Given the description of an element on the screen output the (x, y) to click on. 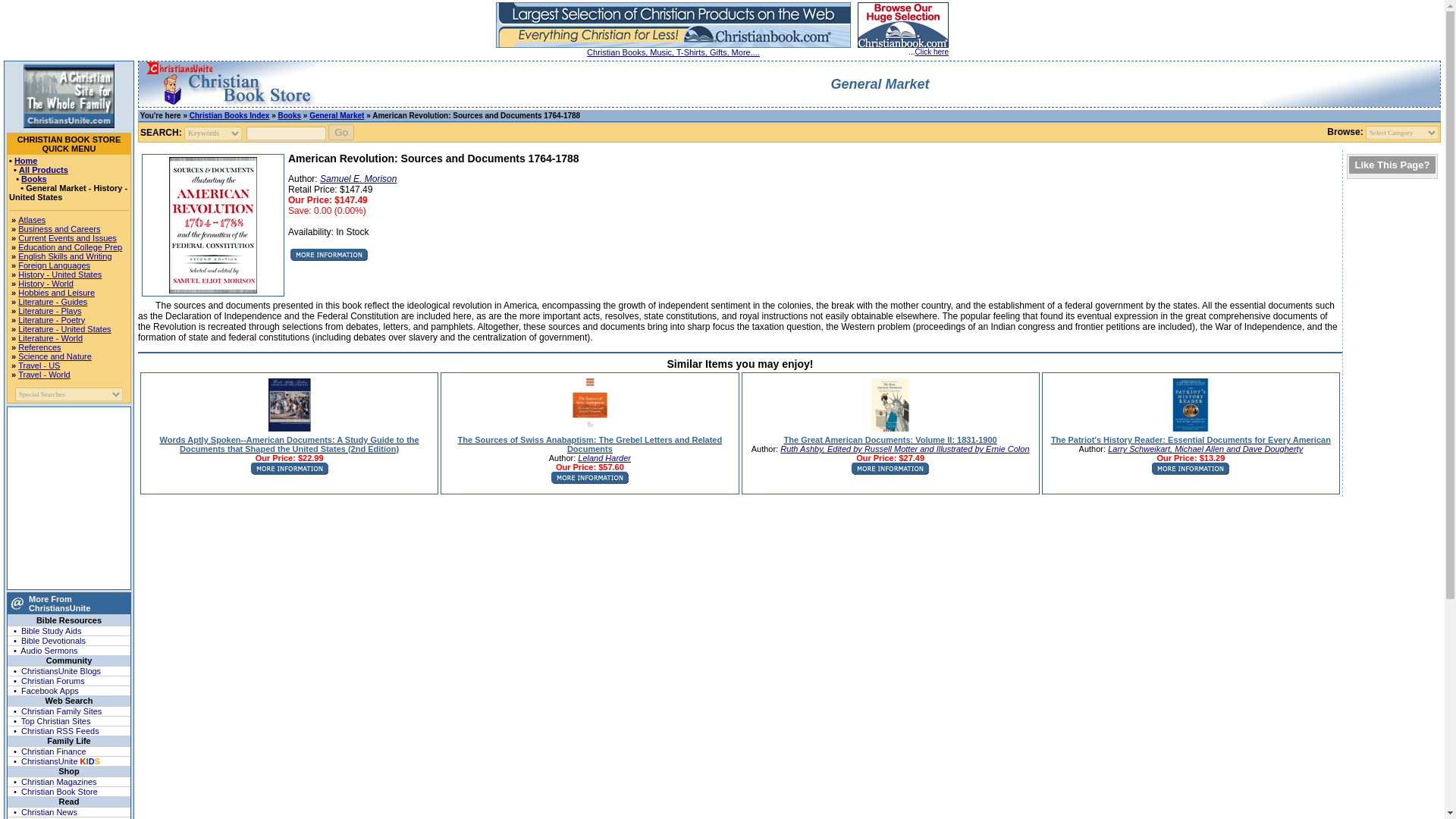
Travel - World (43, 374)
Education and College Prep (69, 246)
English Skills and Writing (64, 256)
History - United States (59, 274)
Science and Nature (54, 356)
Literature - United States (63, 328)
Click here (932, 51)
Go (341, 132)
Literature - World (49, 338)
Books (33, 178)
References (39, 347)
Foreign Languages (53, 265)
Atlases (31, 219)
Literature - Poetry (50, 319)
Current Events and Issues (66, 237)
